Given the description of an element on the screen output the (x, y) to click on. 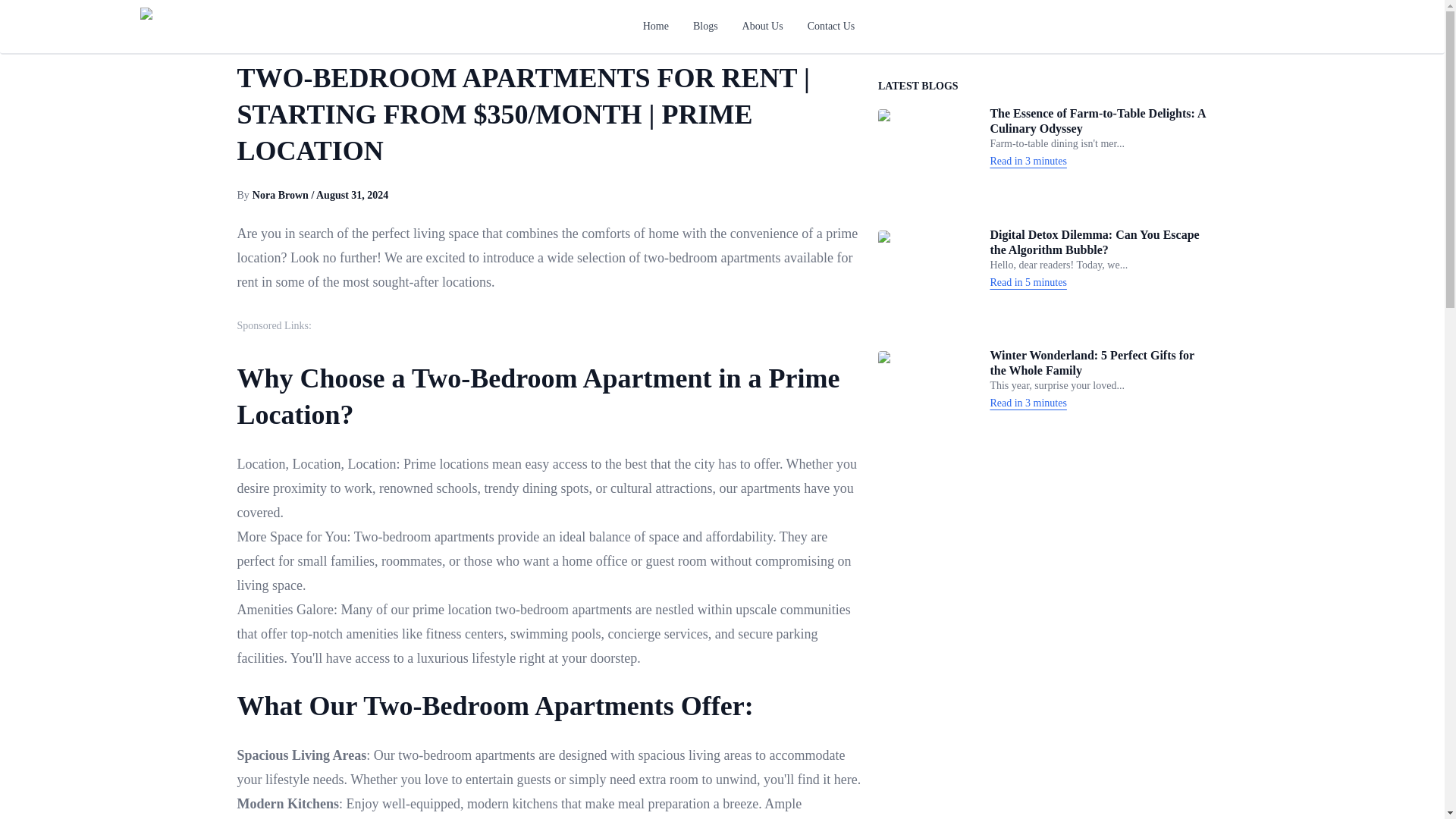
Read in 3 minutes (1028, 160)
Read in 3 minutes (1028, 403)
Contact Us (832, 26)
Read in 5 minutes (1028, 282)
Blogs (705, 26)
About Us (762, 26)
Home (655, 26)
